Given the description of an element on the screen output the (x, y) to click on. 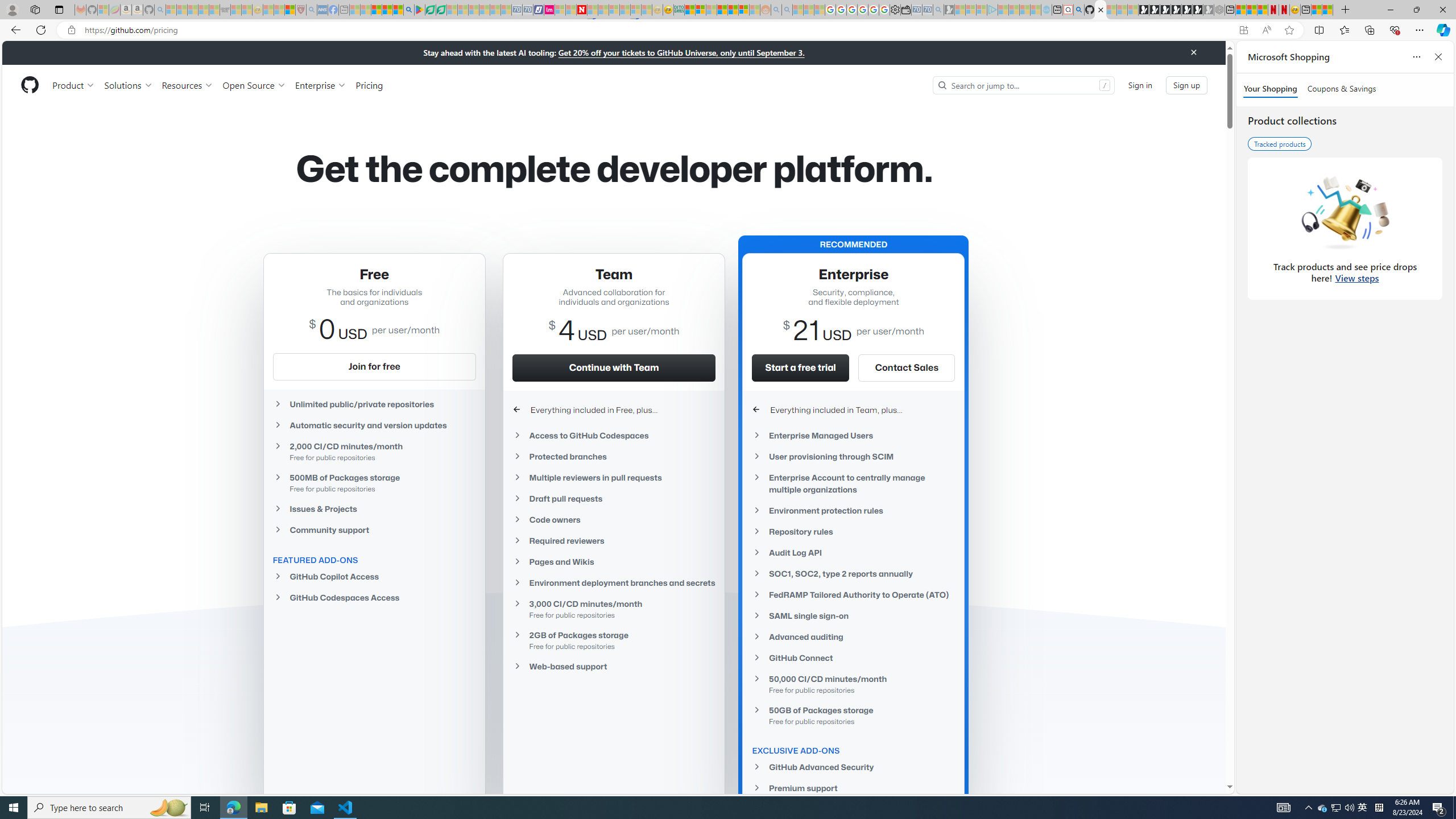
Enterprise (319, 84)
500MB of Packages storage Free for public repositories (374, 482)
3,000 CI/CD minutes/month Free for public repositories (614, 608)
Terms of Use Agreement (430, 9)
Issues & Projects (374, 508)
FedRAMP Tailored Authority to Operate (ATO) (853, 594)
Pages and Wikis (614, 561)
Protected branches (614, 456)
